Given the description of an element on the screen output the (x, y) to click on. 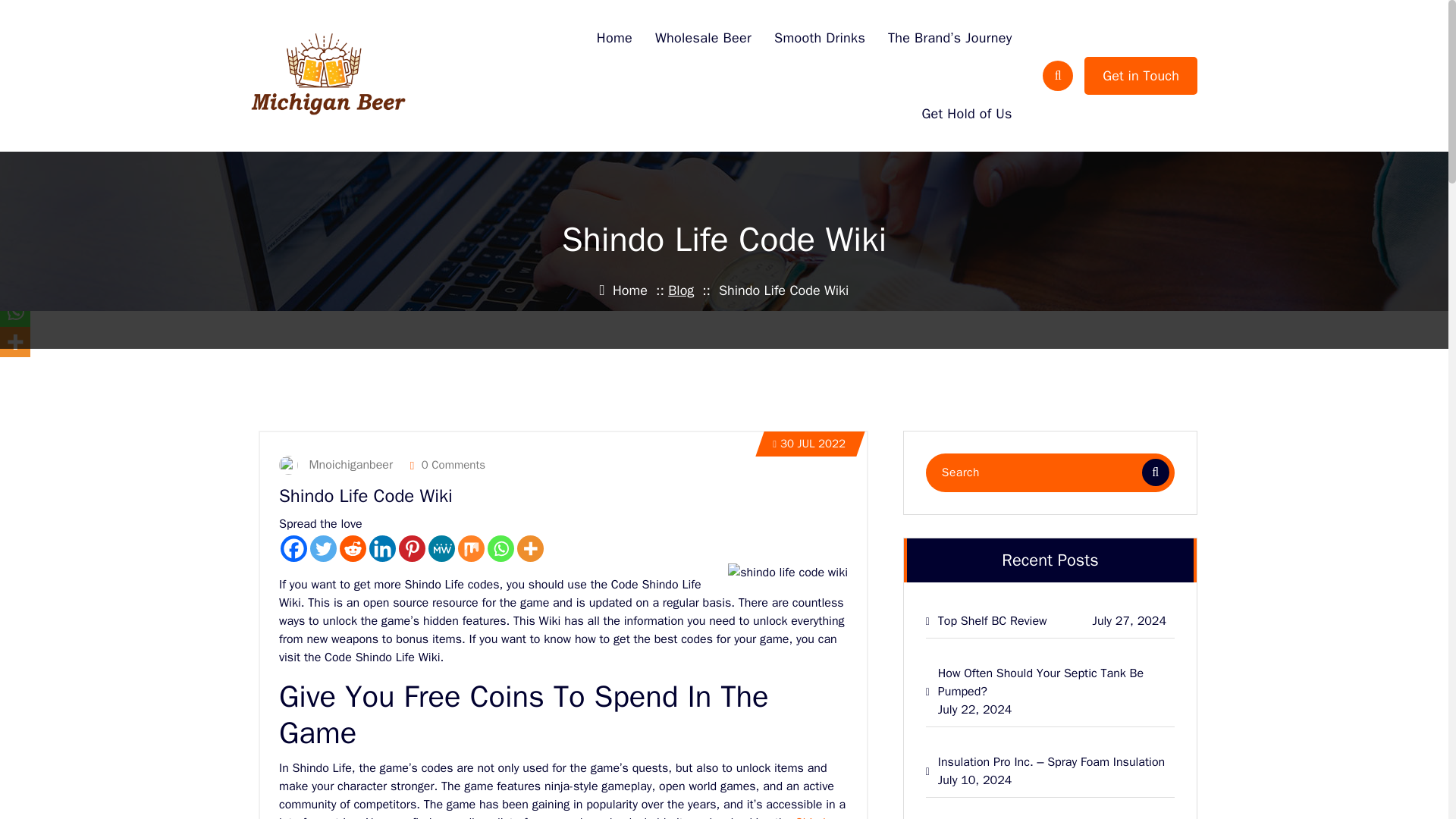
Facebook (294, 548)
Wholesale Beer (703, 38)
Mnoichiganbeer (339, 463)
Wholesale Beer (703, 38)
Twitter (323, 548)
Pinterest (411, 548)
0 Comments (447, 464)
Reddit (352, 548)
Smooth Drinks (818, 38)
Get in Touch (1140, 75)
Smooth Drinks (818, 38)
30 JUL 2022 (809, 443)
Linkedin (382, 548)
MeWe (441, 548)
